Given the description of an element on the screen output the (x, y) to click on. 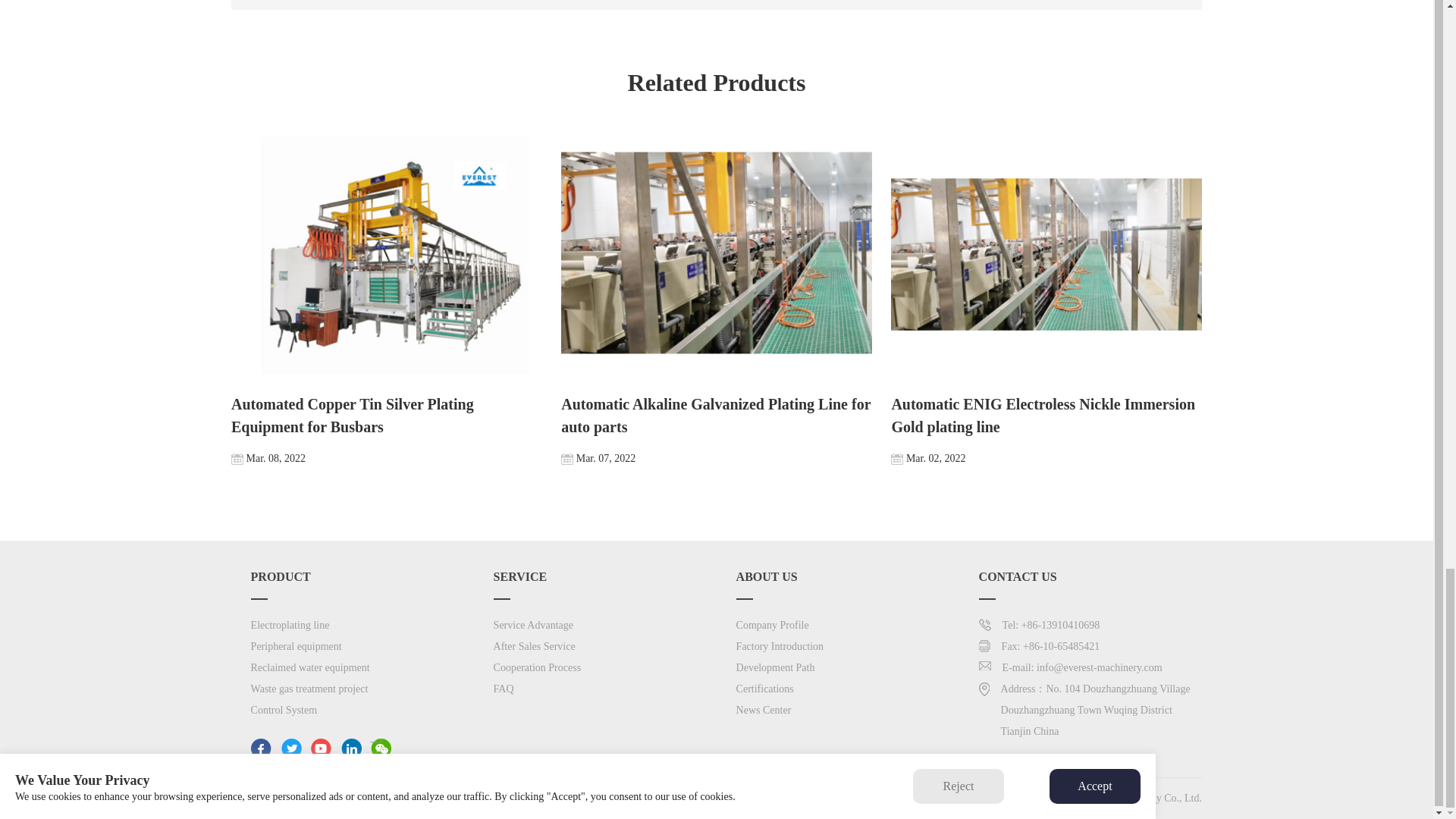
Automatic Alkaline Galvanized Plating Line for auto parts (716, 253)
Automatic Alkaline Galvanized Plating Line for auto parts (716, 298)
Automated Copper Tin Silver Plating Equipment for Busbars (386, 253)
Automated Copper Tin Silver Plating Equipment for Busbars (386, 298)
